Given the description of an element on the screen output the (x, y) to click on. 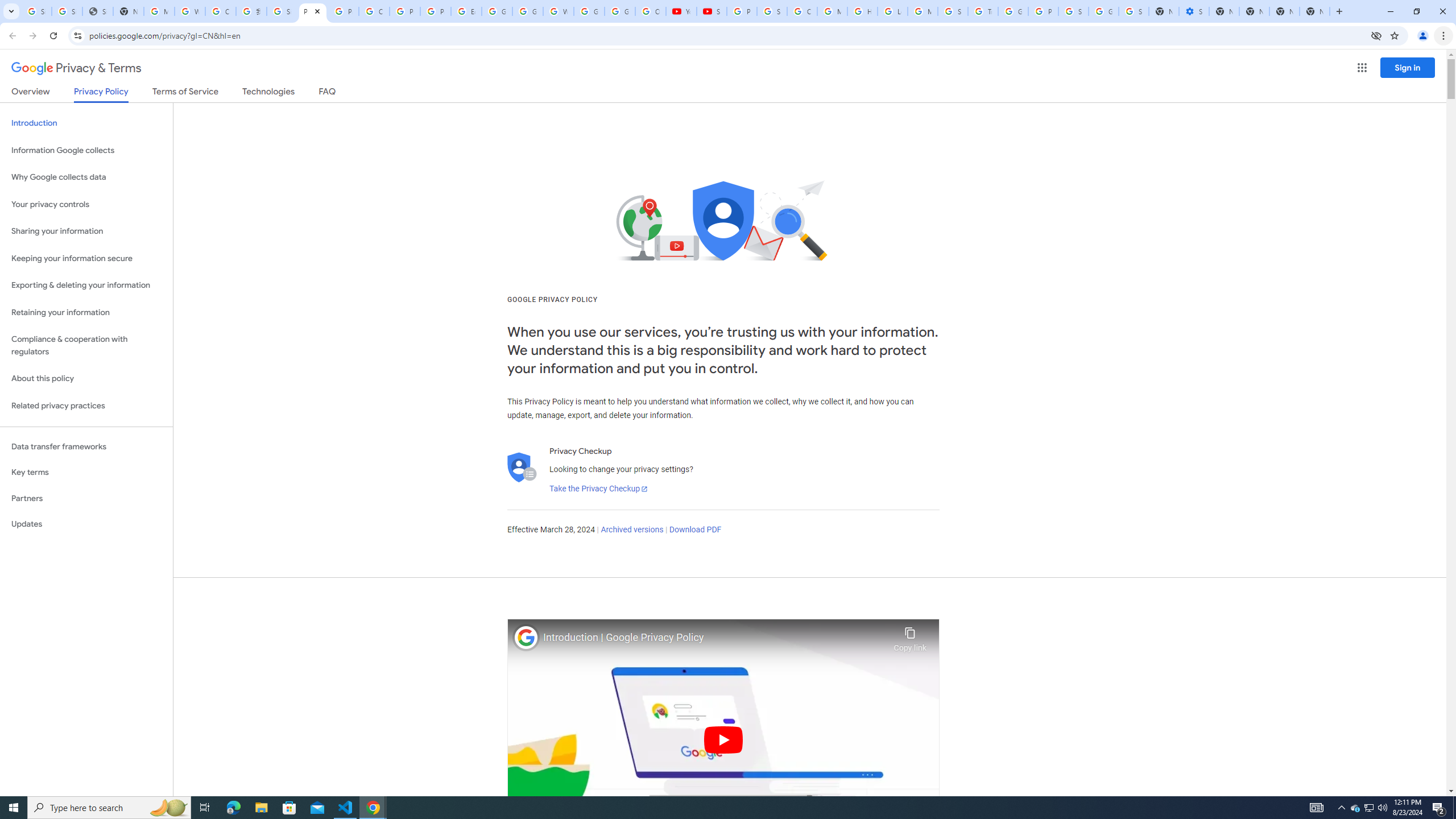
Edit and view right-to-left text - Google Docs Editors Help (465, 11)
Google Cybersecurity Innovations - Google Safety Center (1103, 11)
Why Google collects data (86, 176)
Google apps (1362, 67)
Retaining your information (86, 312)
Take the Privacy Checkup (597, 488)
Search our Doodle Library Collection - Google Doodles (952, 11)
Archived versions (631, 529)
Introduction | Google Privacy Policy (715, 637)
